Given the description of an element on the screen output the (x, y) to click on. 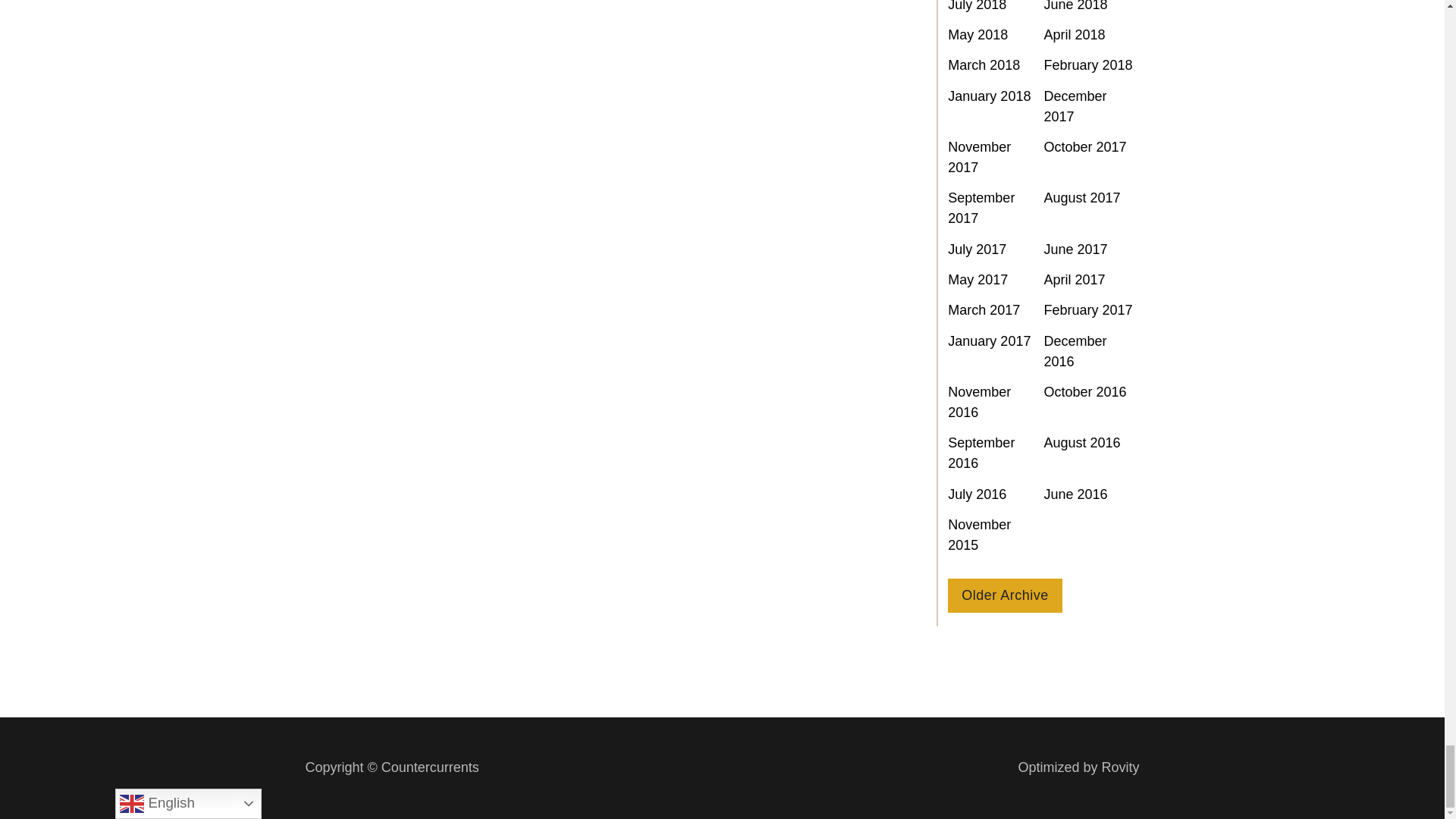
Rovity (1077, 767)
